Given the description of an element on the screen output the (x, y) to click on. 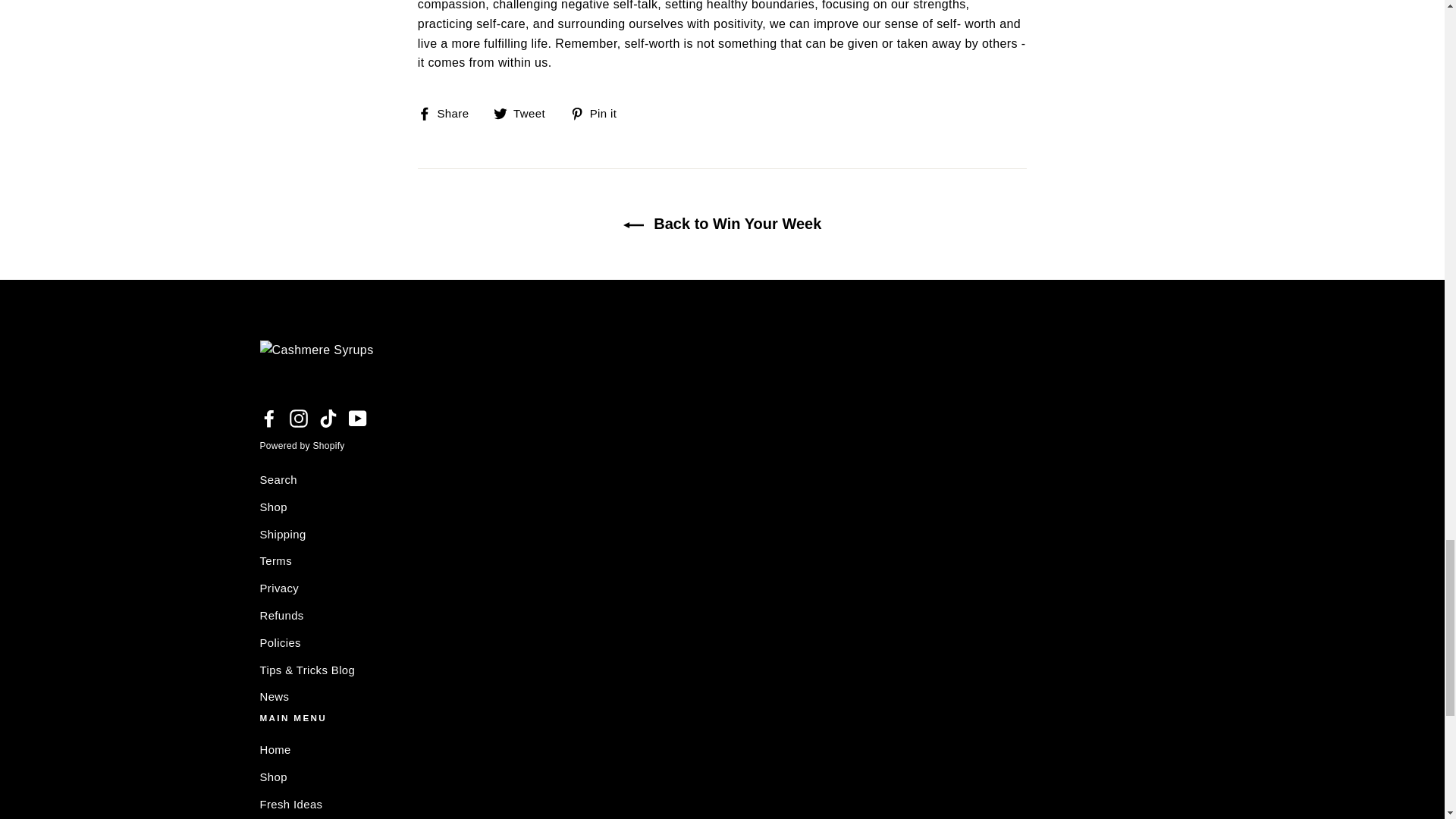
Cashmere Syrups on Instagram (298, 417)
Share on Facebook (448, 113)
Pin on Pinterest (598, 113)
Cashmere Syrups on TikTok (327, 417)
Tweet on Twitter (524, 113)
Cashmere Syrups on YouTube (357, 417)
Cashmere Syrups on Facebook (268, 417)
